Given the description of an element on the screen output the (x, y) to click on. 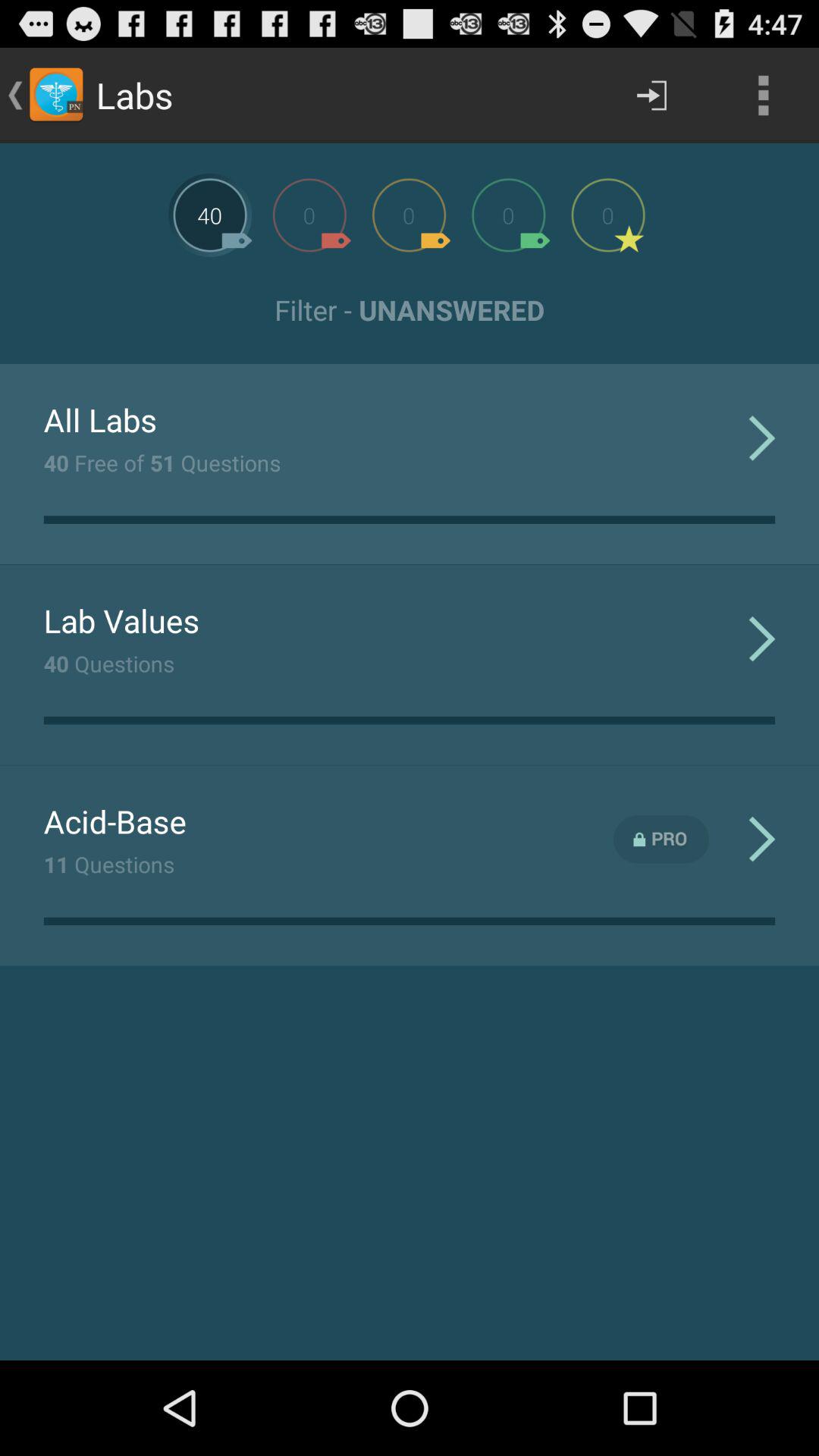
pro feature (661, 839)
